Given the description of an element on the screen output the (x, y) to click on. 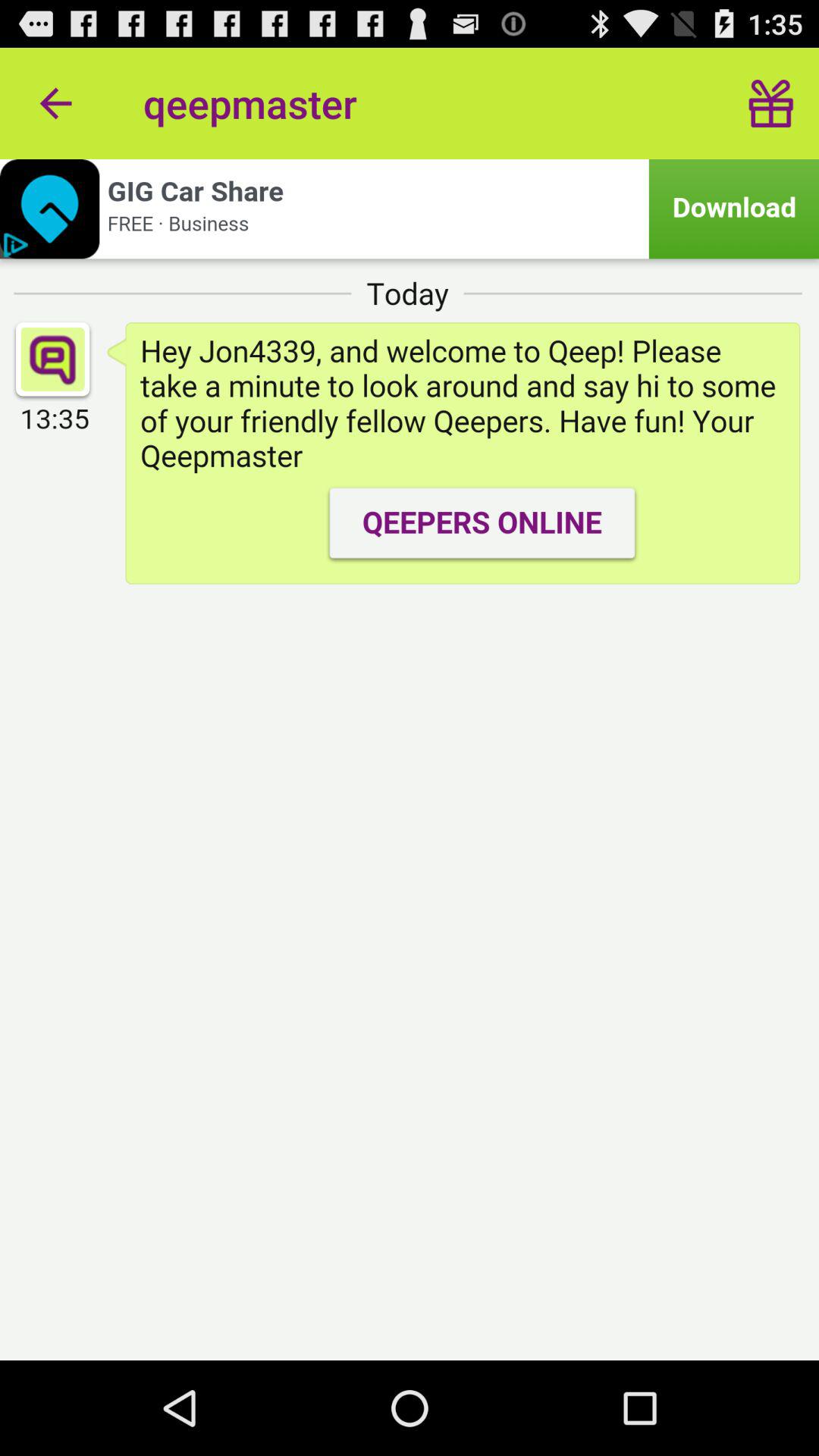
download link (409, 208)
